Given the description of an element on the screen output the (x, y) to click on. 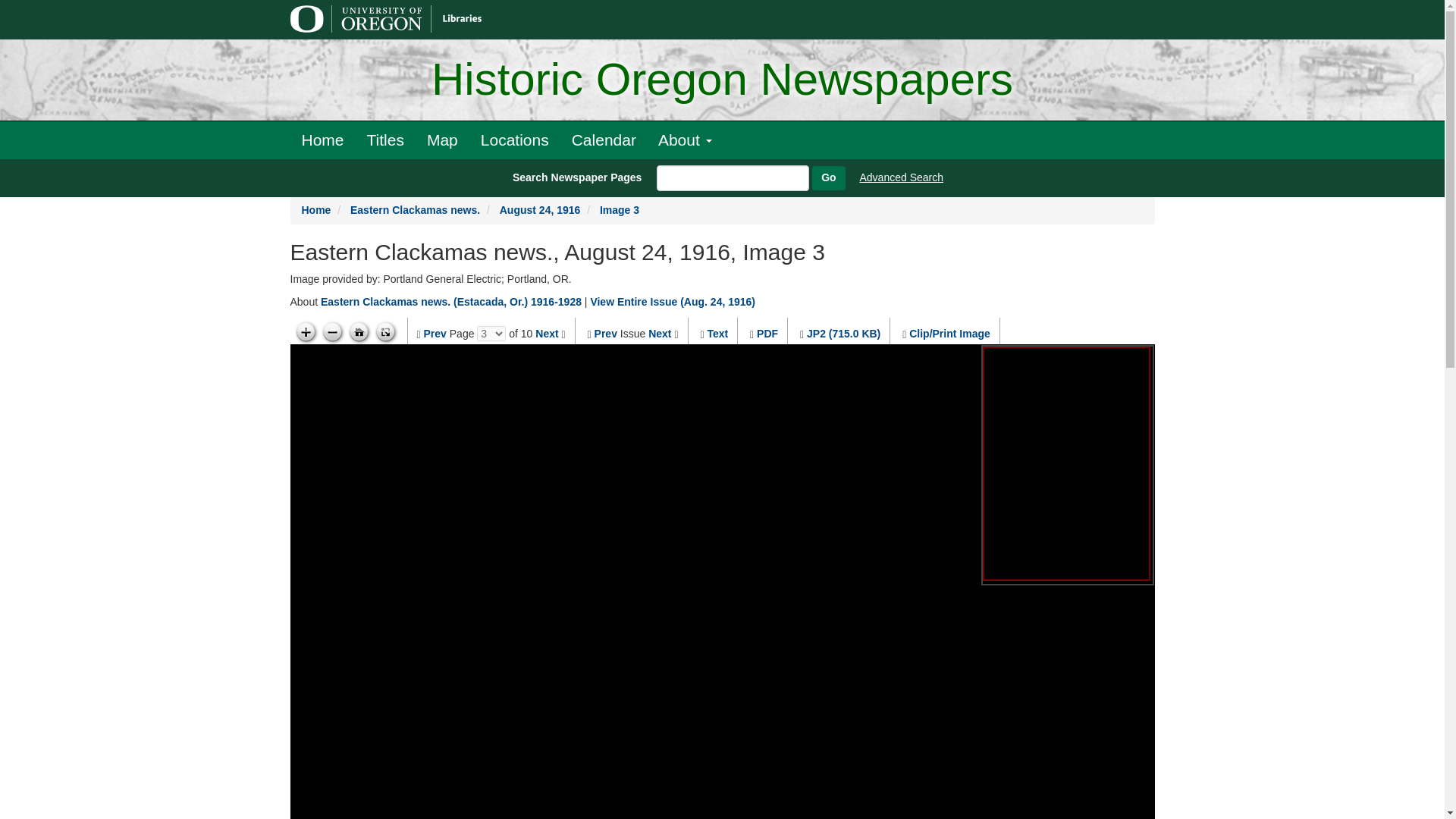
Go home (359, 332)
Advanced Search (901, 177)
Text (717, 333)
Toggle full page (385, 332)
Zoom in (305, 332)
Home (322, 139)
Next (659, 333)
August 24, 1916 (539, 209)
Home (316, 209)
PDF (767, 333)
Prev (434, 333)
Image 3 (619, 209)
Locations (514, 139)
Eastern Clackamas news. (415, 209)
Titles (384, 139)
